Given the description of an element on the screen output the (x, y) to click on. 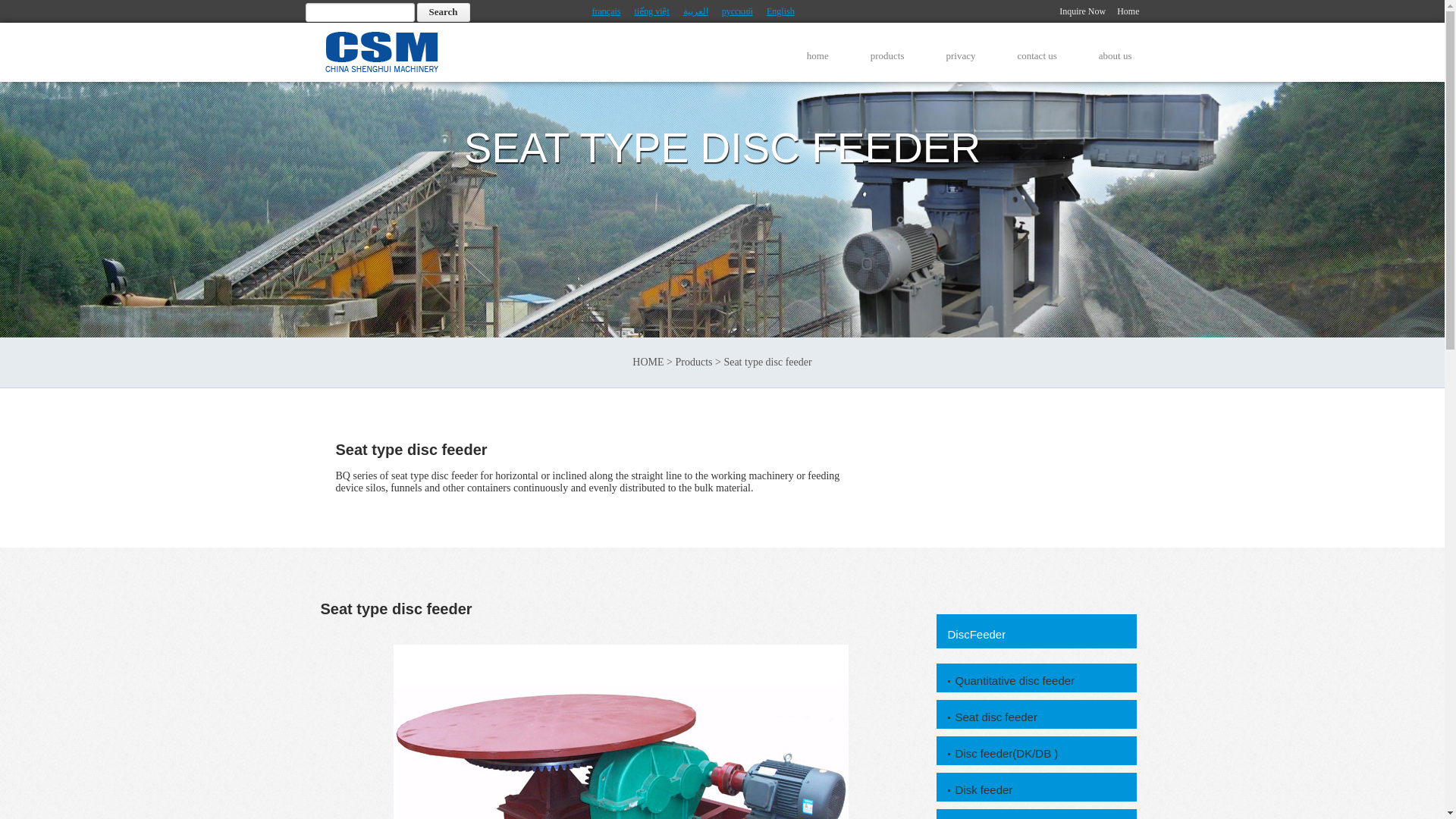
Seat type disc feeder (1042, 816)
Search (443, 12)
Seat disc feeder (1042, 716)
Quantitative disc feeder (1042, 680)
English (780, 10)
Seat type disc feeder (1042, 816)
Inquire Now (1082, 11)
Disk feeder (1042, 789)
Home (1127, 11)
Products (693, 361)
Seat disc feeder (1042, 716)
HOME (647, 361)
Inquire Now (1082, 11)
Disk feeder (1042, 789)
Quantitative disc feeder (1042, 680)
